Given the description of an element on the screen output the (x, y) to click on. 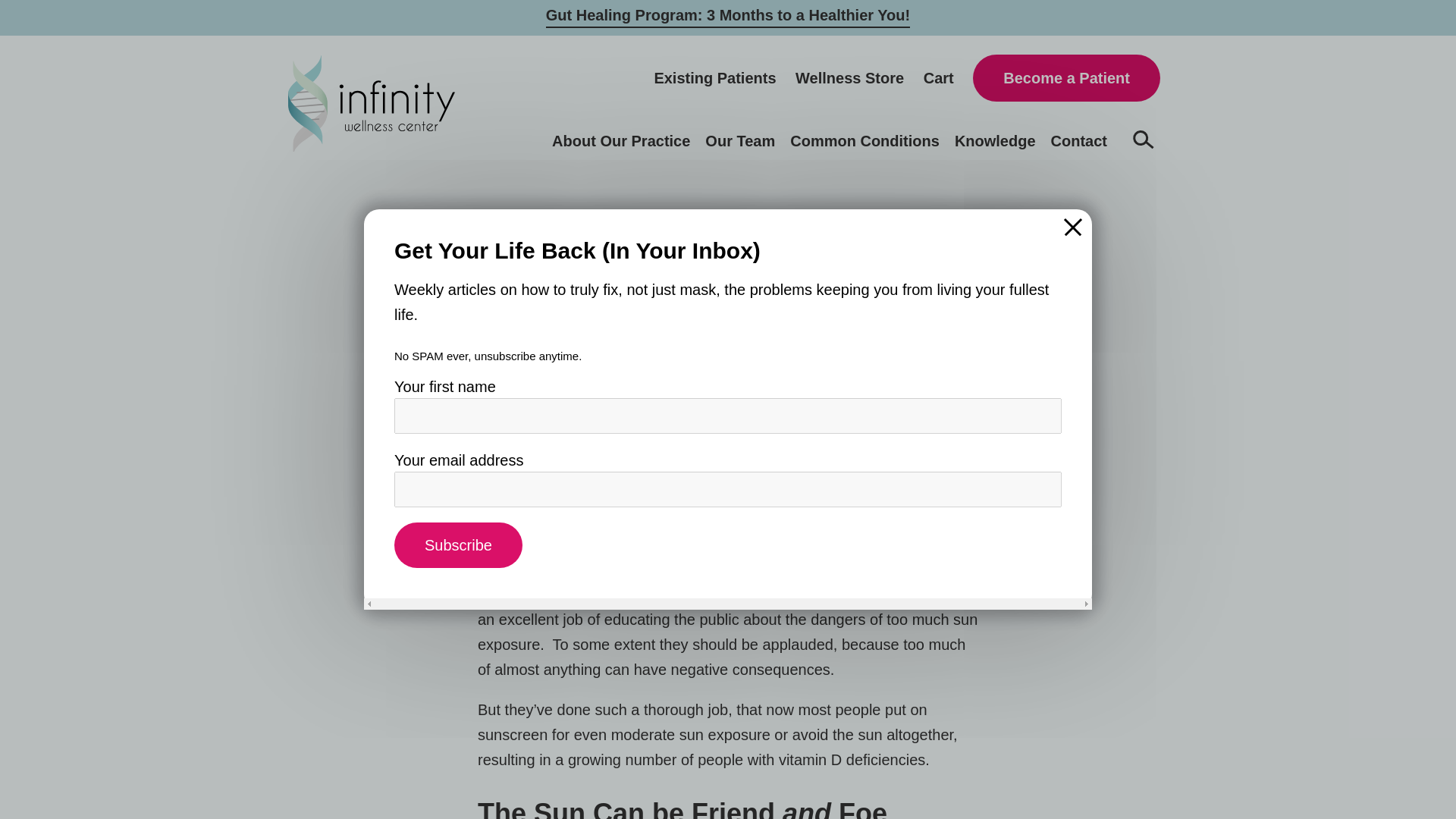
About Our Practice (620, 140)
Cart (938, 77)
Gut Healing Program: 3 Months to a Healthier You! (728, 15)
Wellness Store (849, 77)
Our Team (739, 140)
Contact (1078, 140)
Return to the Infinity Wellness Telehealth homepage (371, 103)
Common Conditions (864, 140)
Become a Patient (1066, 77)
Knowledge (995, 140)
Existing Patients (714, 77)
